Given the description of an element on the screen output the (x, y) to click on. 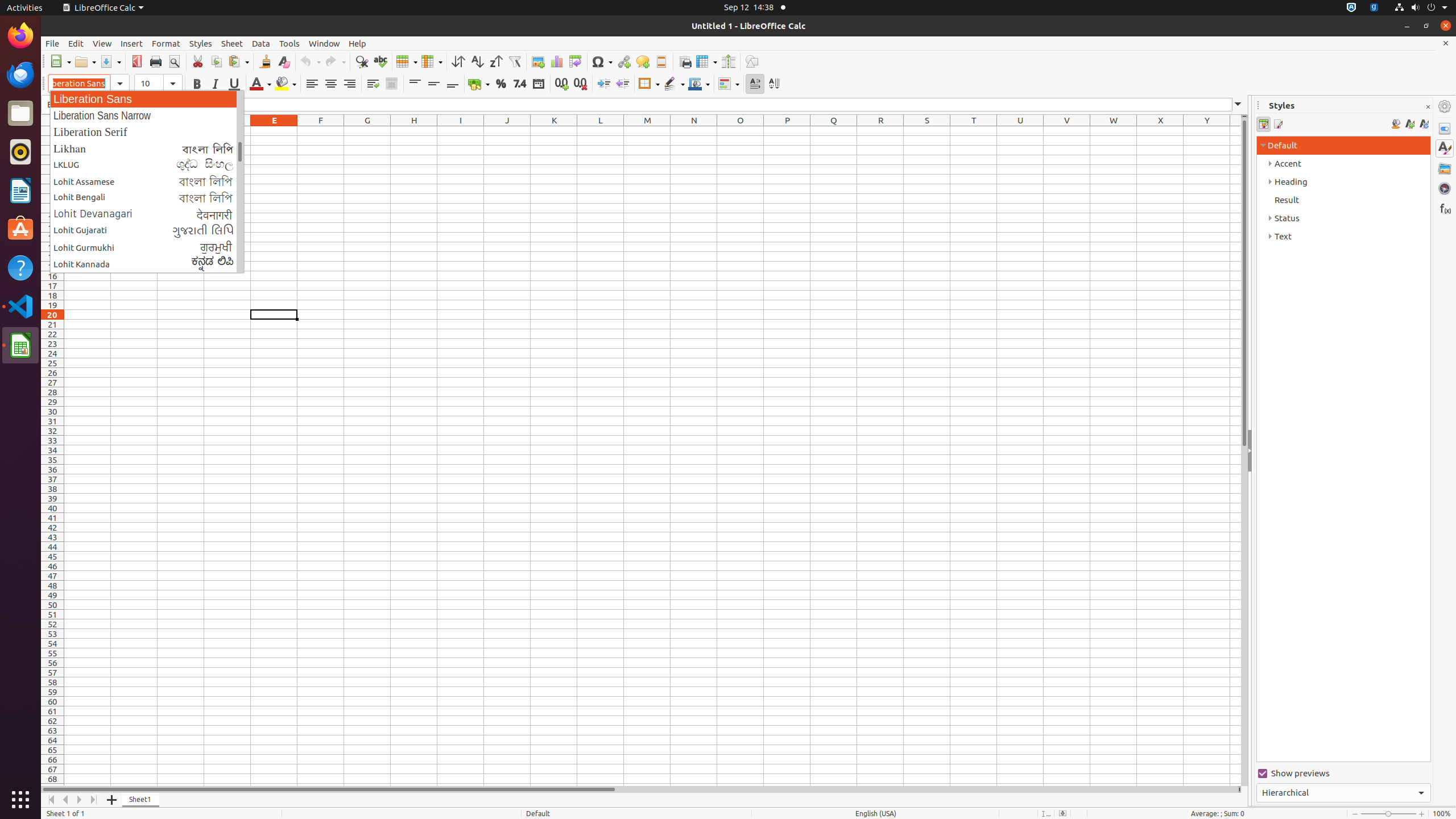
Sort Ascending Element type: push-button (476, 61)
Sheet1 Element type: page-tab (140, 799)
Text direction from left to right Element type: toggle-button (754, 83)
New Style from Selection Element type: push-button (1409, 123)
